Given the description of an element on the screen output the (x, y) to click on. 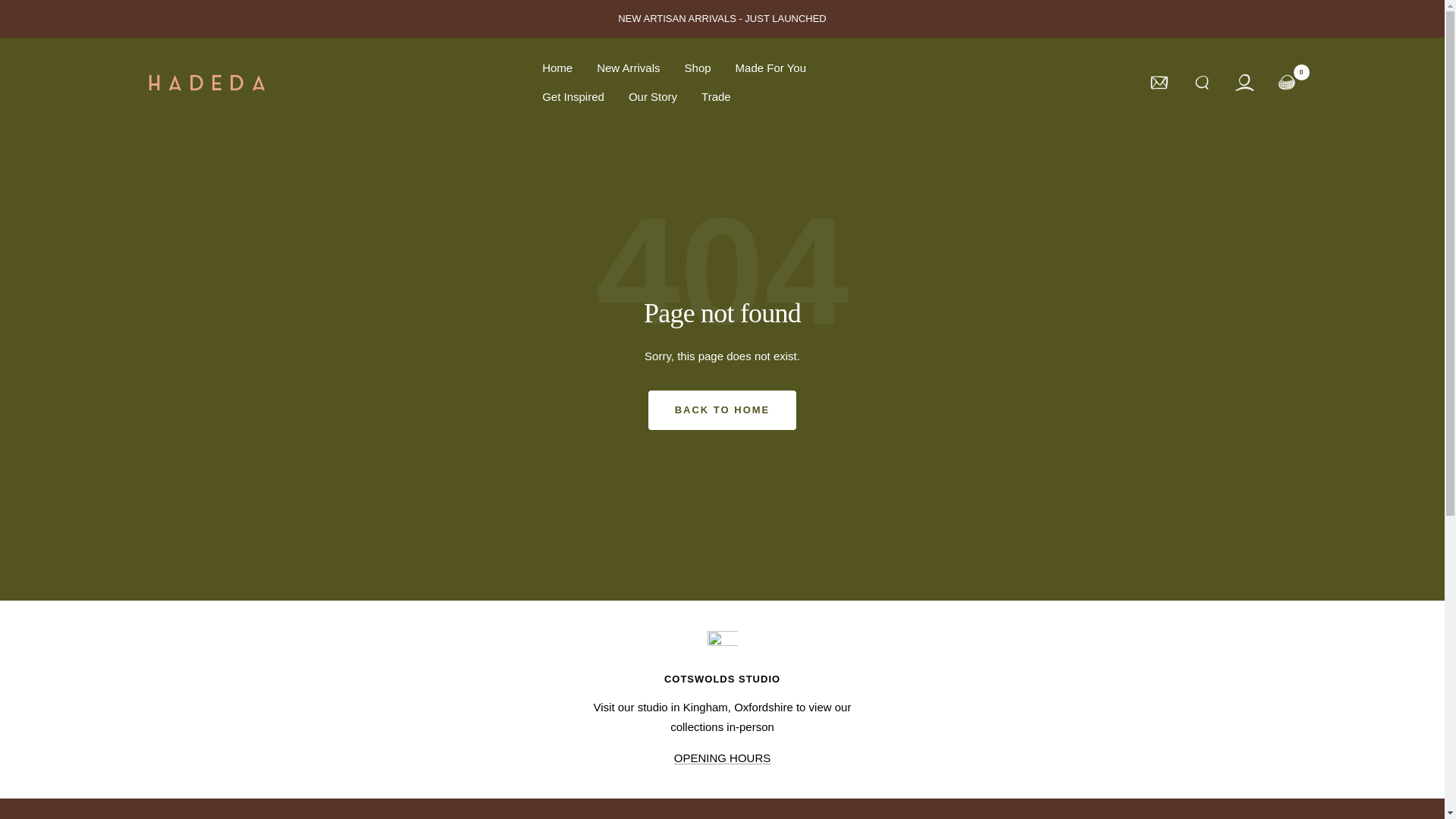
Made For You (770, 67)
New Arrivals (627, 67)
Shop (697, 67)
Hadeda Limited (205, 82)
Trade (715, 96)
Where to find us (722, 757)
Newsletter (1159, 82)
Home (556, 67)
0 (1286, 82)
